Given the description of an element on the screen output the (x, y) to click on. 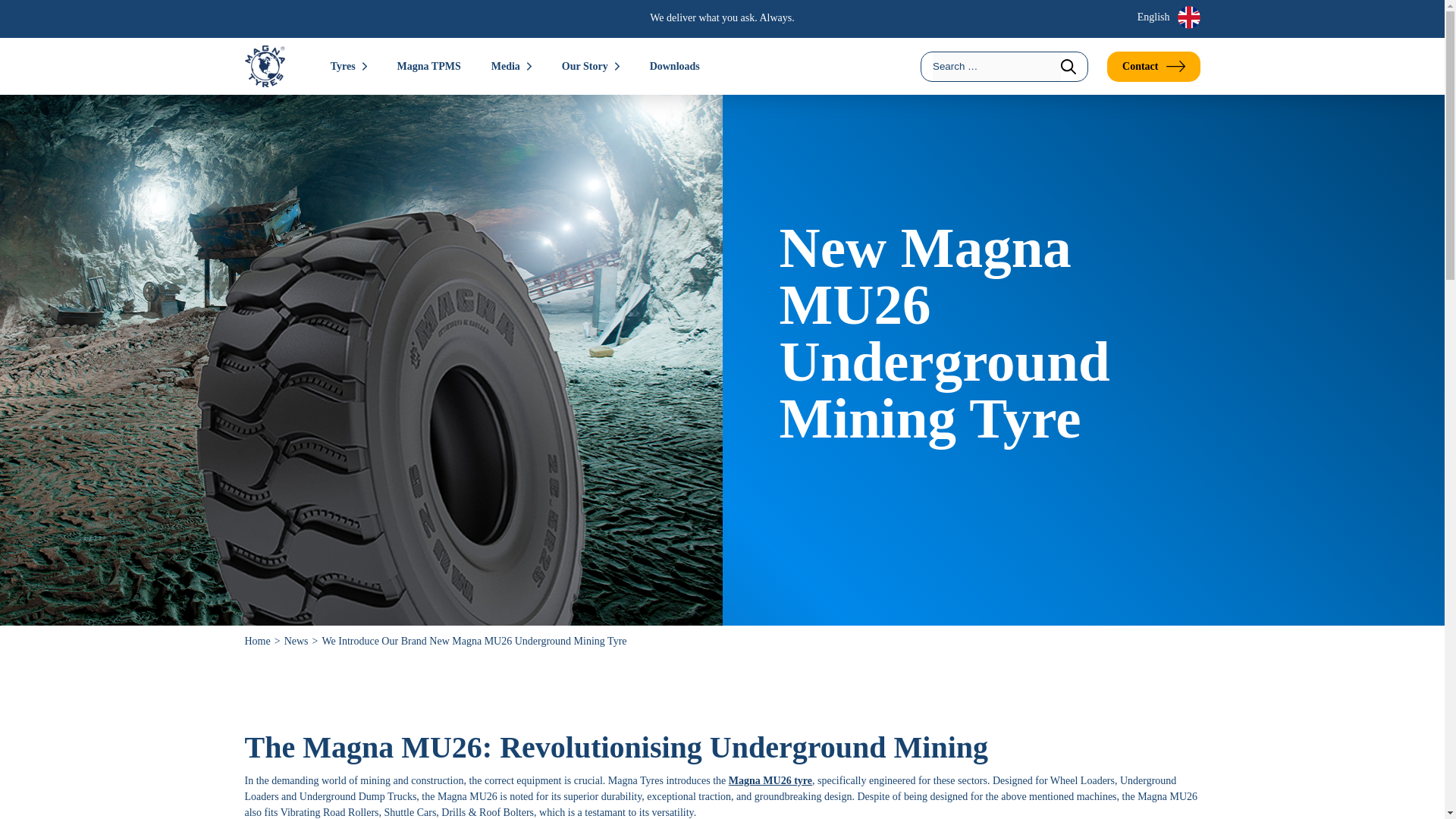
Tyres (348, 65)
English (1161, 16)
Home (263, 641)
Contact (1152, 66)
Home (263, 641)
Our Story (590, 65)
News (302, 641)
Magna MU26 tyre (770, 780)
News (302, 641)
Downloads (674, 65)
Media (511, 65)
Magna TPMS (428, 65)
Contact (1152, 66)
